Given the description of an element on the screen output the (x, y) to click on. 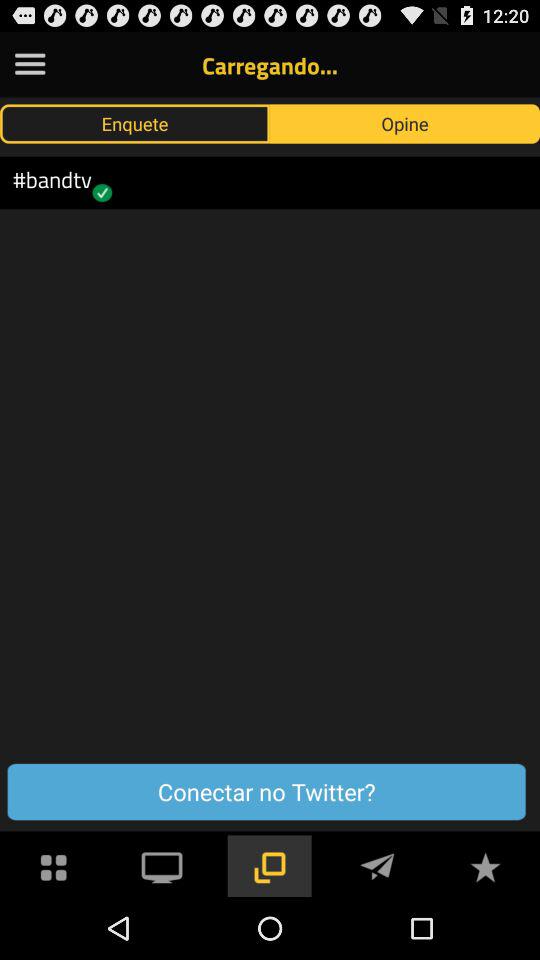
choose the opine icon (405, 123)
